Given the description of an element on the screen output the (x, y) to click on. 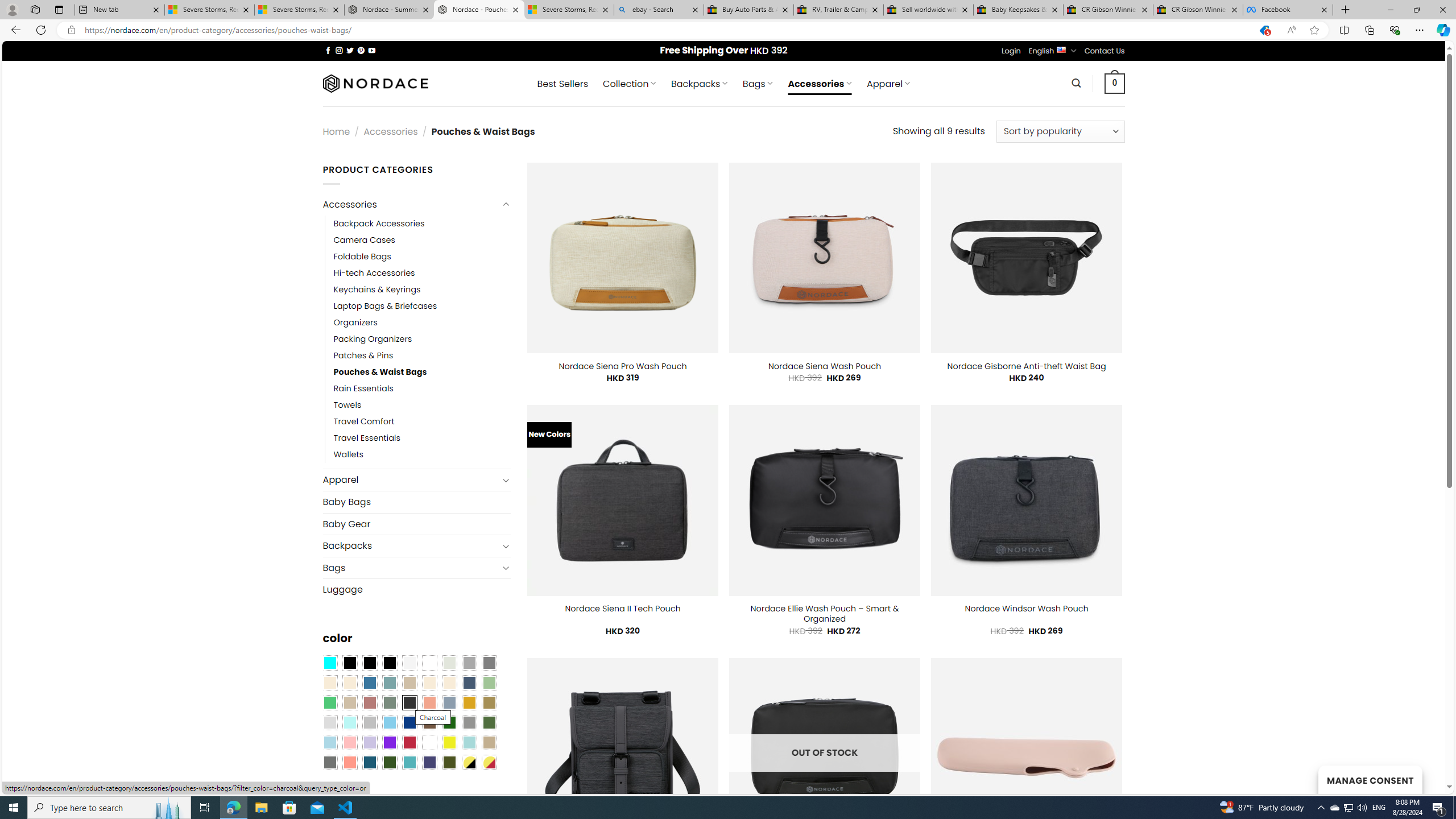
Pearly White (408, 662)
Hale Navy (468, 681)
Camera Cases (422, 239)
Follow on YouTube (371, 49)
Baby Bags (416, 501)
Yellow (449, 741)
Travel Comfort (363, 421)
Army Green (449, 762)
Light Blue (329, 741)
Backpacks (410, 545)
Sage (389, 702)
Dull Nickle (329, 762)
